Given the description of an element on the screen output the (x, y) to click on. 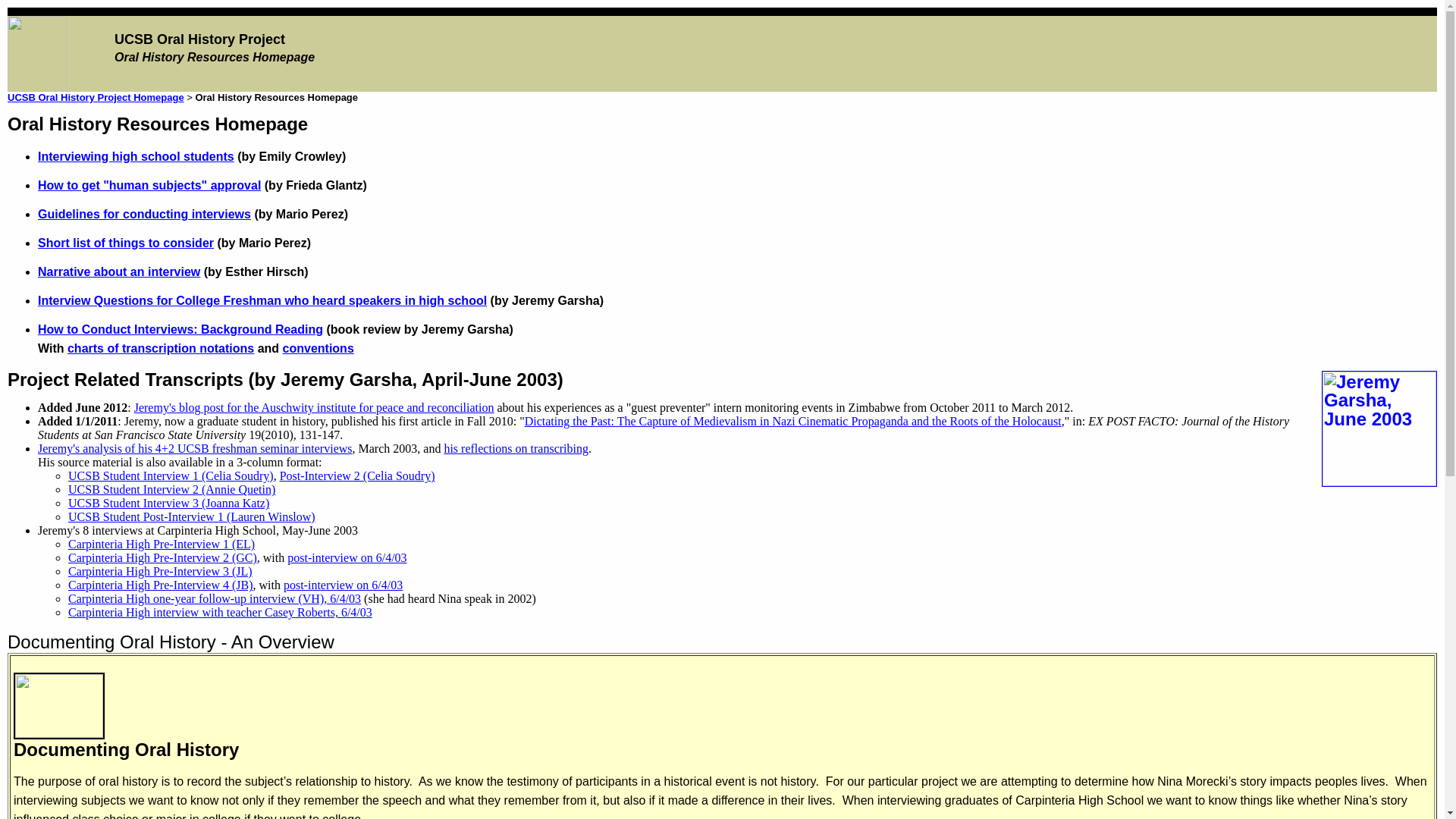
Short list of things to consider (125, 242)
Narrative about an interview (118, 271)
How to Conduct Interviews: Background Reading (180, 328)
Guidelines for conducting interviews (143, 214)
his reflections on transcribing (516, 448)
charts of transcription notations (159, 348)
Interviewing high school students (135, 155)
How to get "human subjects" approval (148, 185)
